Given the description of an element on the screen output the (x, y) to click on. 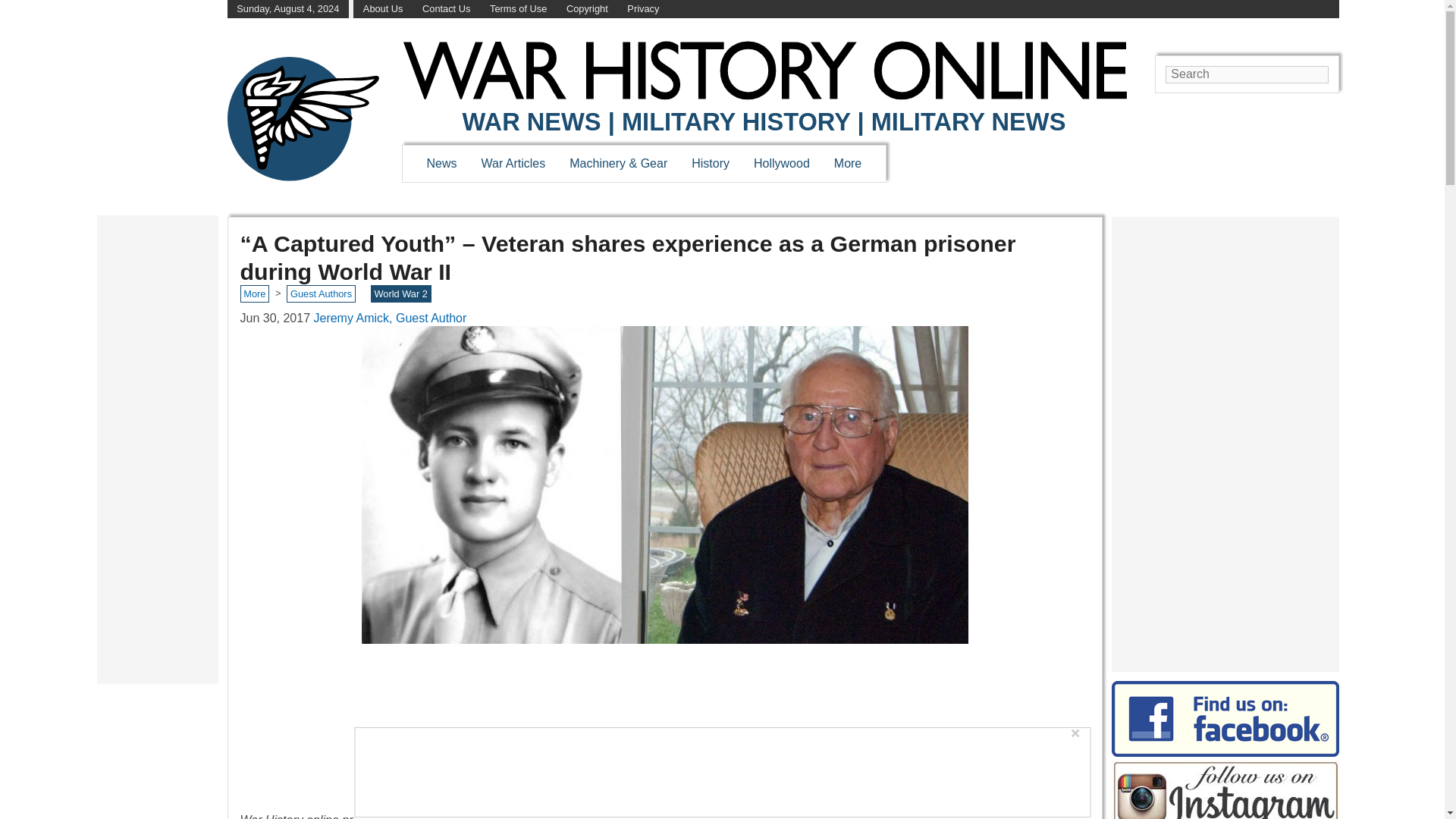
Copyright (587, 8)
Privacy (643, 8)
War Articles (513, 163)
Terms of Use (518, 8)
More (847, 163)
Hollywood (781, 163)
History (710, 163)
Contact Us (446, 8)
About Us (382, 8)
News (441, 163)
